Given the description of an element on the screen output the (x, y) to click on. 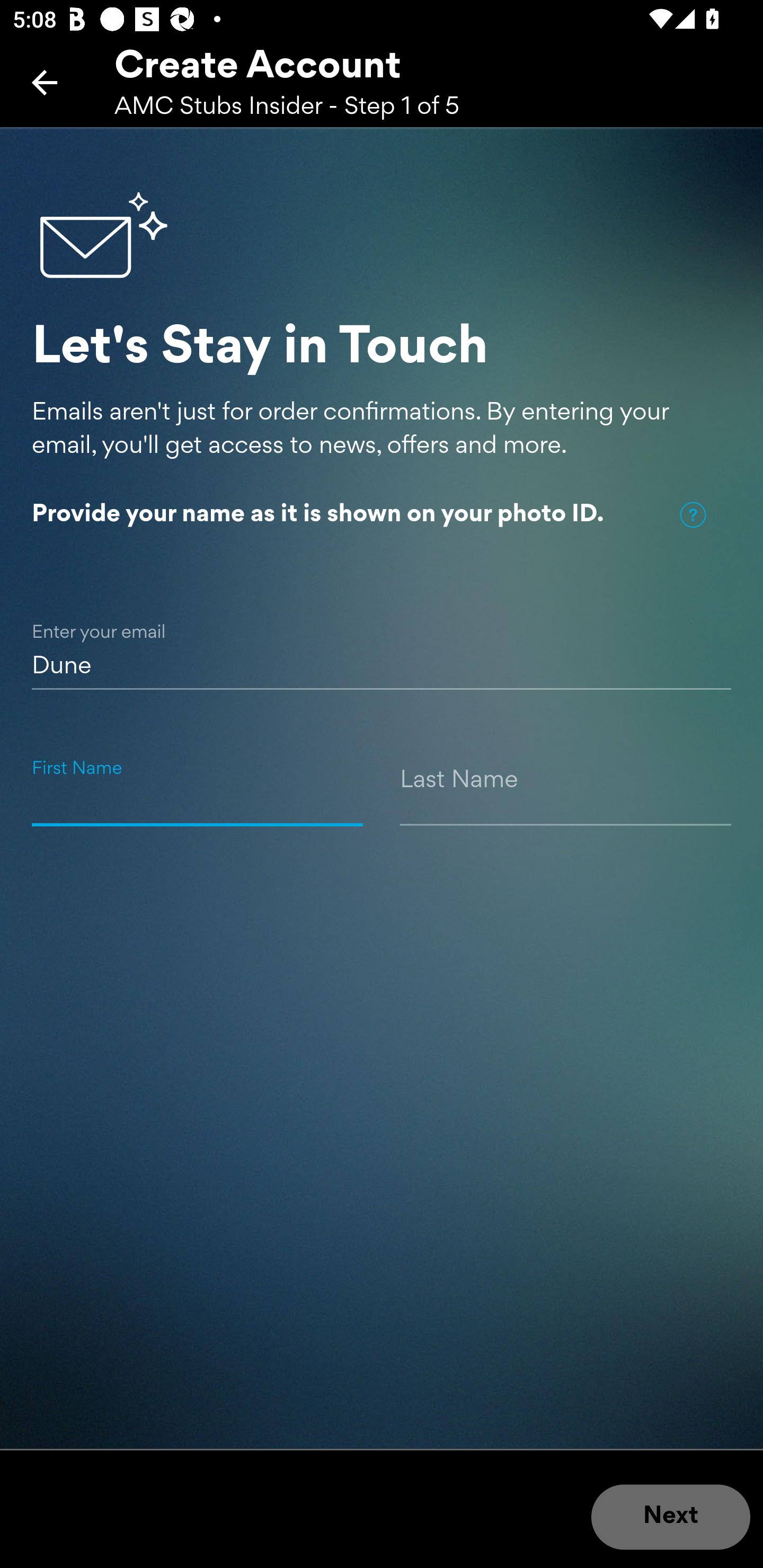
Back (44, 82)
Help (692, 514)
Dune (381, 644)
